Given the description of an element on the screen output the (x, y) to click on. 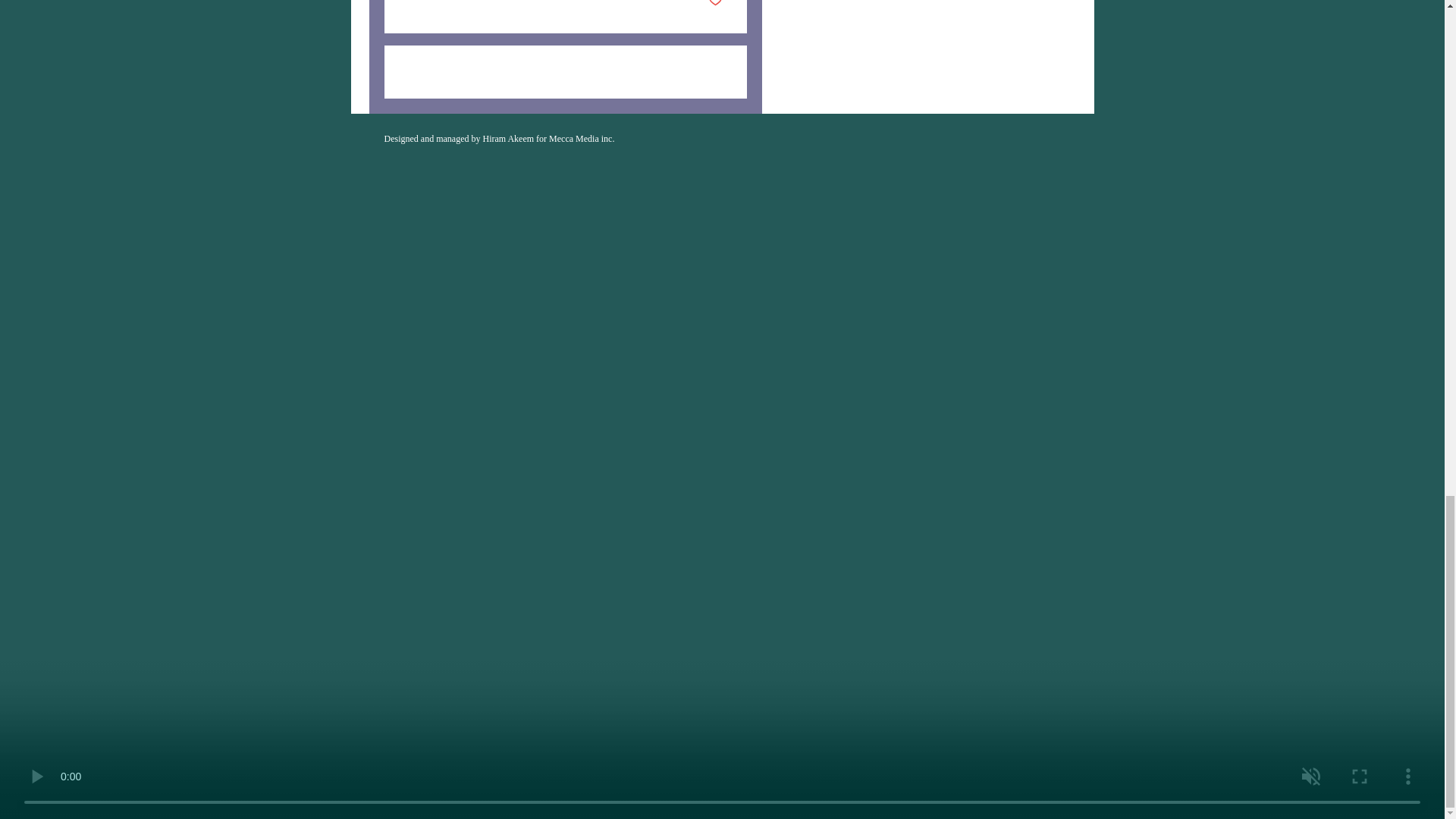
Post not marked as liked (714, 4)
